Given the description of an element on the screen output the (x, y) to click on. 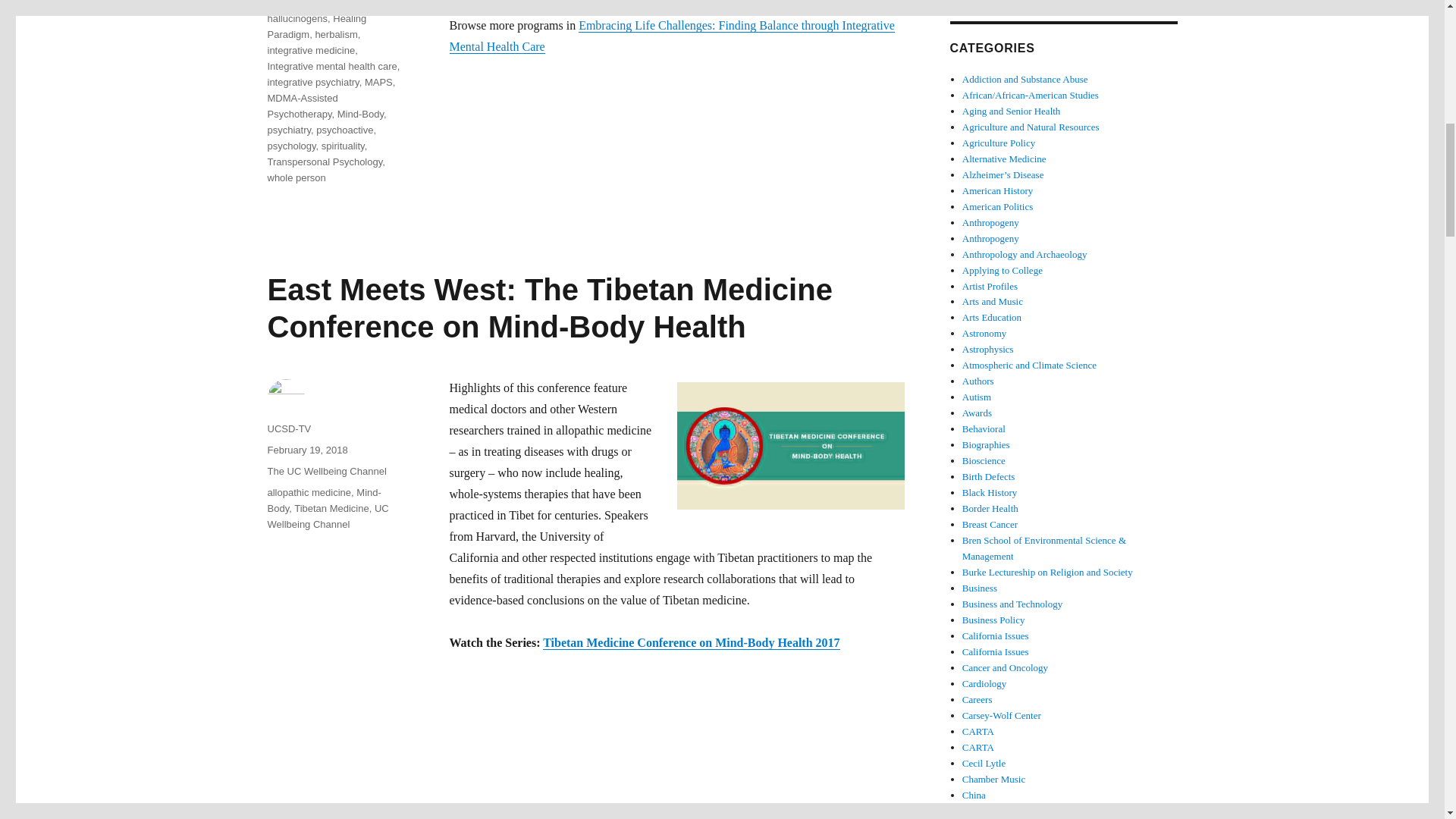
Mind-Body (360, 113)
psychoactive (343, 129)
Transpersonal Psychology (323, 161)
psychology (290, 145)
hallucinogens (296, 18)
MAPS (379, 81)
depression (290, 4)
Integrative mental health care (331, 66)
herbalism (335, 34)
MDMA-Assisted Psychotherapy (301, 105)
